Given the description of an element on the screen output the (x, y) to click on. 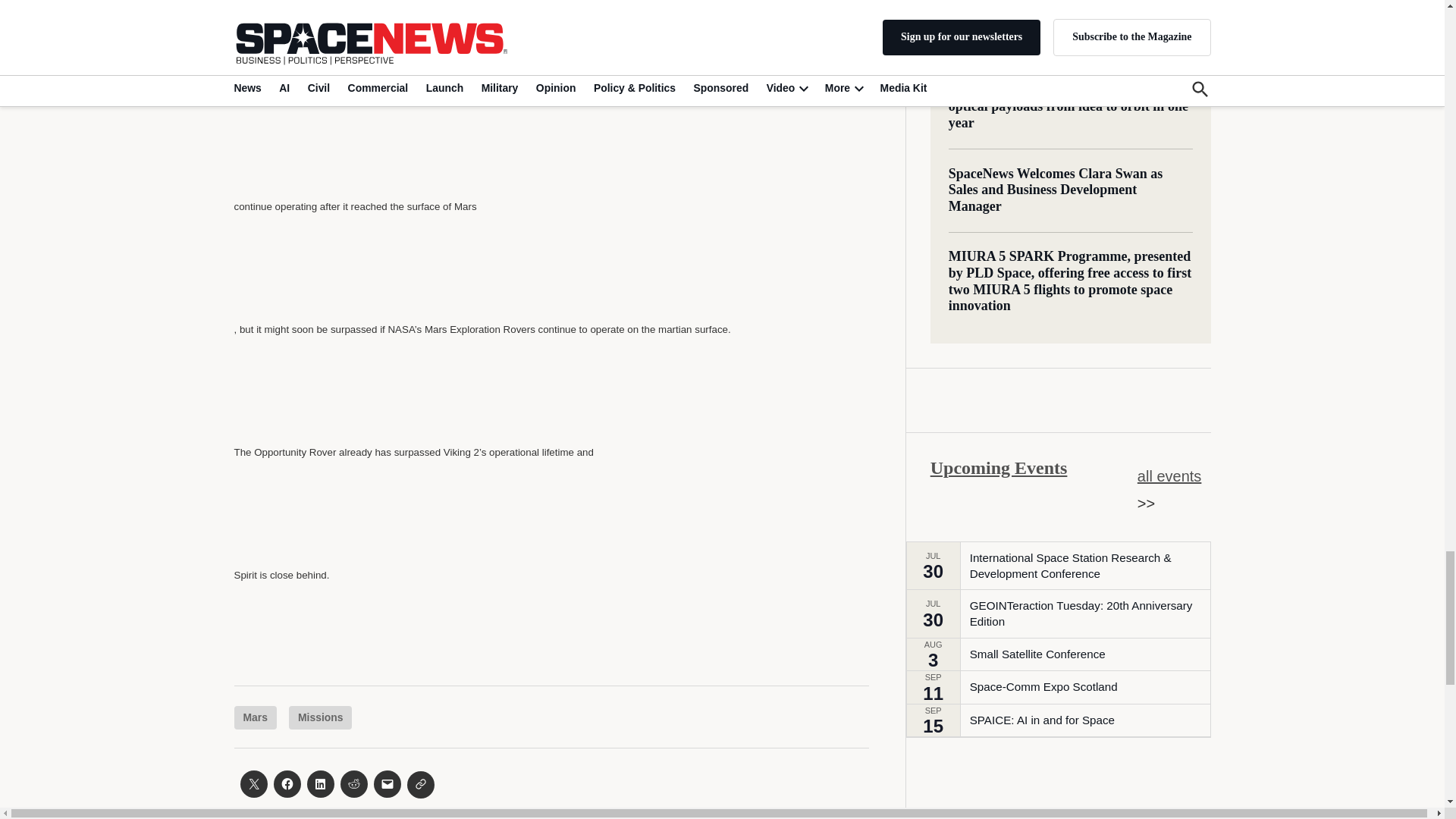
Click to email a link to a friend (386, 783)
Click to share on Facebook (286, 783)
Click to share on Clipboard (419, 784)
Click to share on X (253, 783)
Click to share on Reddit (352, 783)
Click to share on LinkedIn (319, 783)
